Given the description of an element on the screen output the (x, y) to click on. 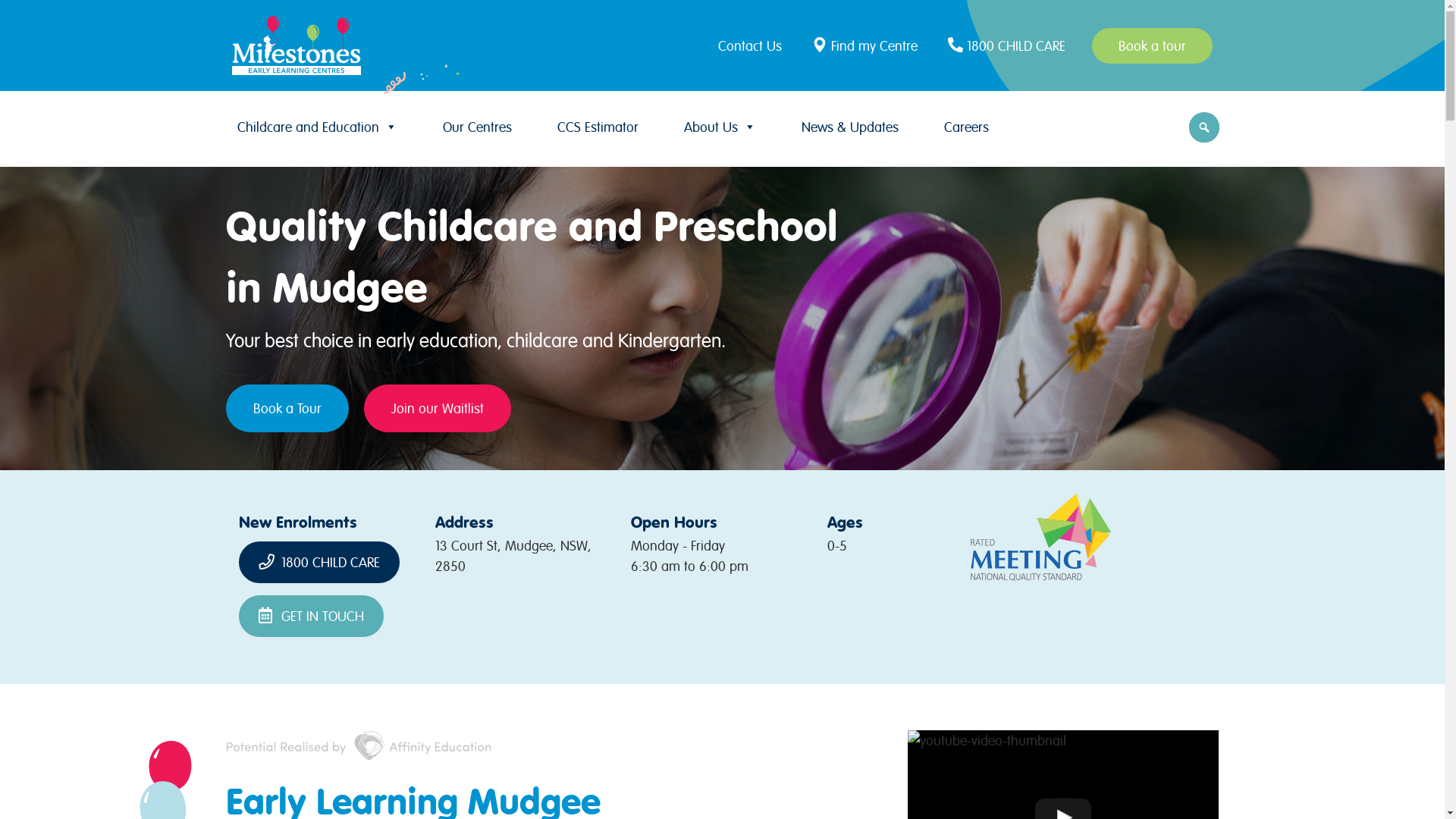
About Us Element type: text (719, 127)
Book a Tour Element type: text (286, 408)
Childcare and Education Element type: text (316, 127)
1800 CHILD CARE Element type: text (318, 562)
News & Updates Element type: text (849, 127)
Search Element type: text (15, 17)
Find my Centre Element type: text (866, 44)
Join our Waitlist Element type: text (437, 408)
potential-realised-by-affinity-education Element type: hover (358, 745)
Contact Us Element type: text (753, 44)
Careers Element type: text (965, 127)
1800 CHILD CARE Element type: text (1008, 44)
Our Centres Element type: text (477, 127)
GET IN TOUCH Element type: text (310, 616)
CCS Estimator Element type: text (597, 127)
Book a tour Element type: text (1152, 44)
